Given the description of an element on the screen output the (x, y) to click on. 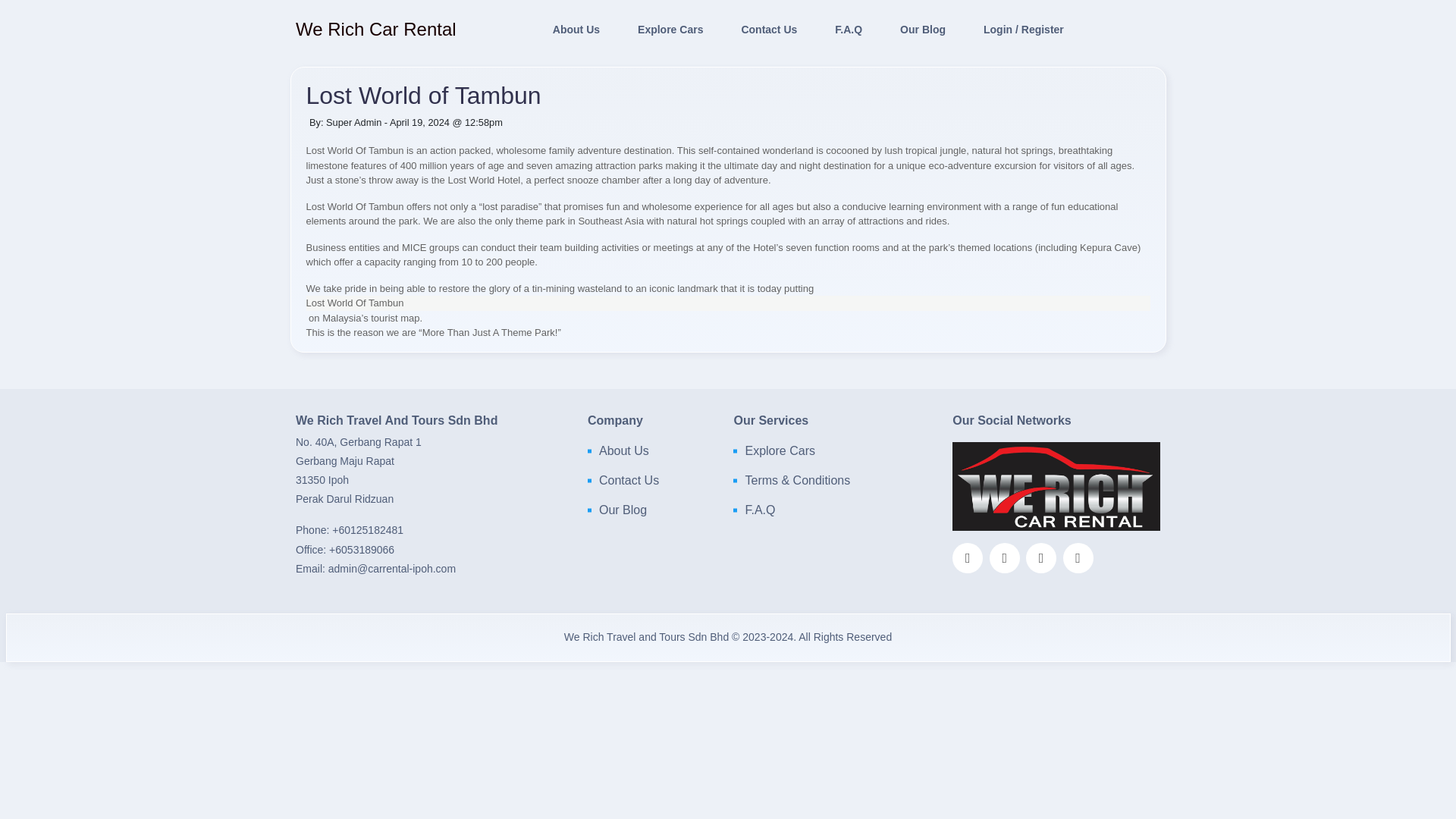
Our Blog (921, 29)
F.A.Q (759, 510)
F.A.Q (847, 29)
Explore Cars (778, 451)
Explore Cars (670, 29)
We Rich Car Rental (376, 26)
Our Blog (622, 510)
About Us (623, 451)
About Us (576, 29)
Contact Us (768, 29)
Contact Us (628, 480)
